Given the description of an element on the screen output the (x, y) to click on. 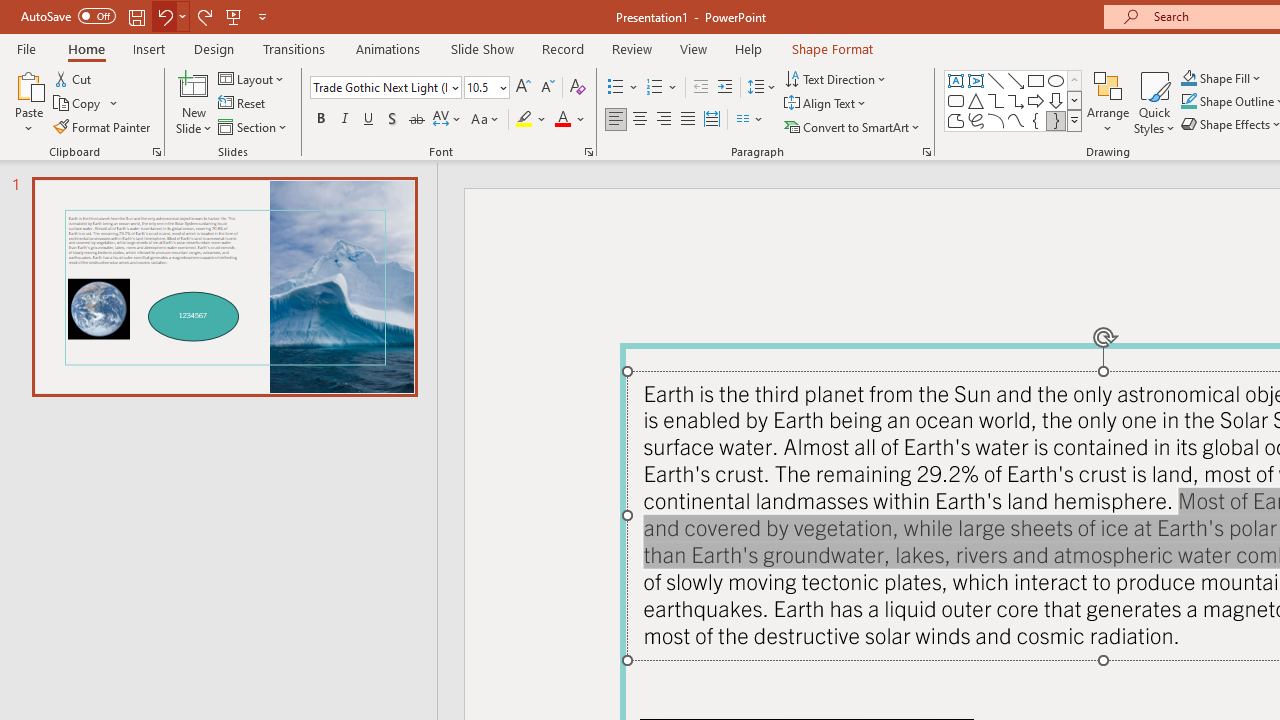
Font Color Red (562, 119)
Arrow: Right (1035, 100)
Format Painter (103, 126)
Curve (1016, 120)
Line Spacing (762, 87)
Rectangle: Rounded Corners (955, 100)
Connector: Elbow Arrow (1016, 100)
Italic (344, 119)
Distributed (712, 119)
